Given the description of an element on the screen output the (x, y) to click on. 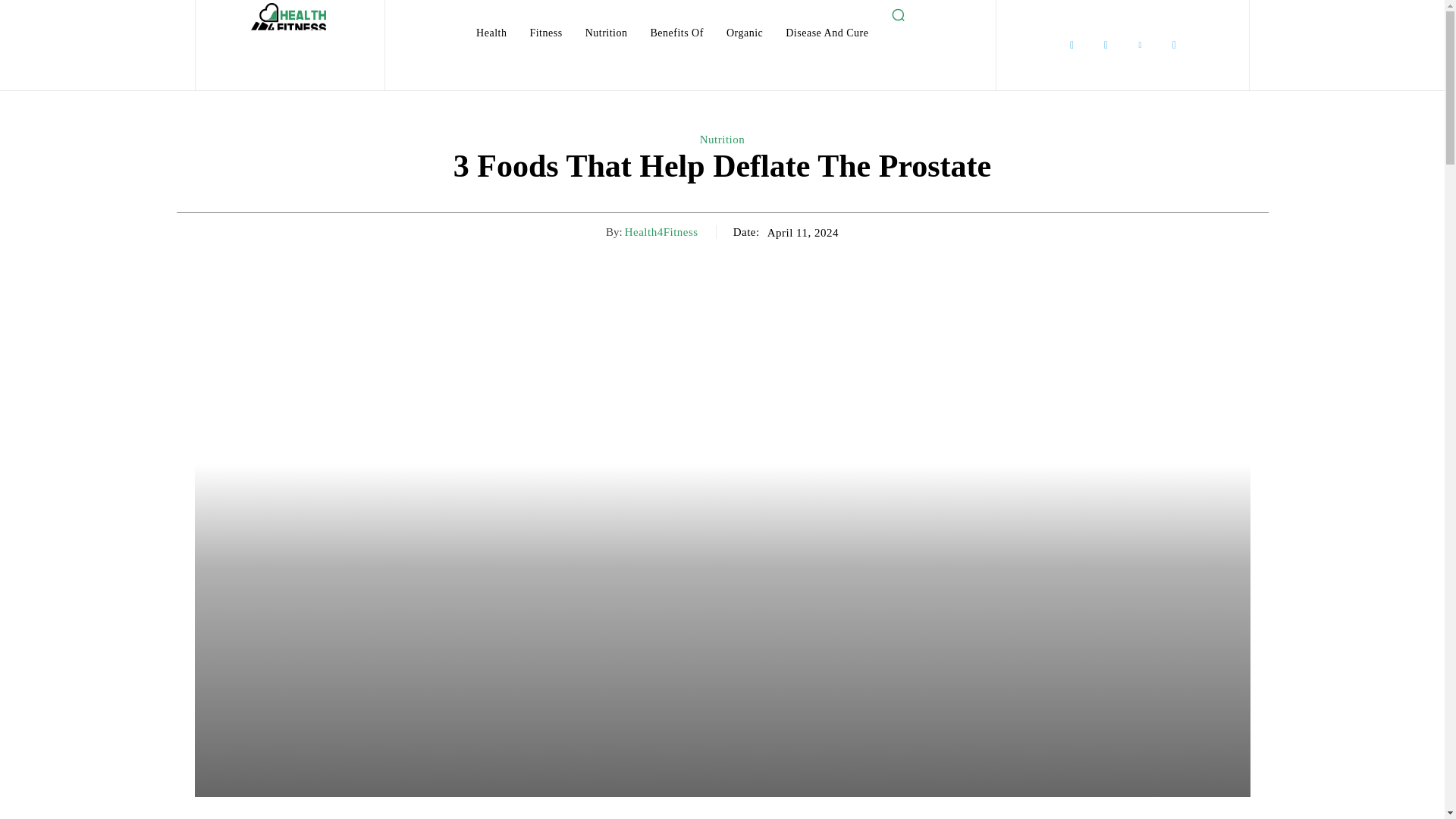
Benefits Of (676, 33)
Disease And Cure (826, 33)
Linkedin (1139, 44)
Nutrition (722, 139)
Twitter (1174, 44)
Health4Fitness (661, 232)
Instagram (1106, 44)
Nutrition (606, 33)
Facebook (1071, 44)
